Given the description of an element on the screen output the (x, y) to click on. 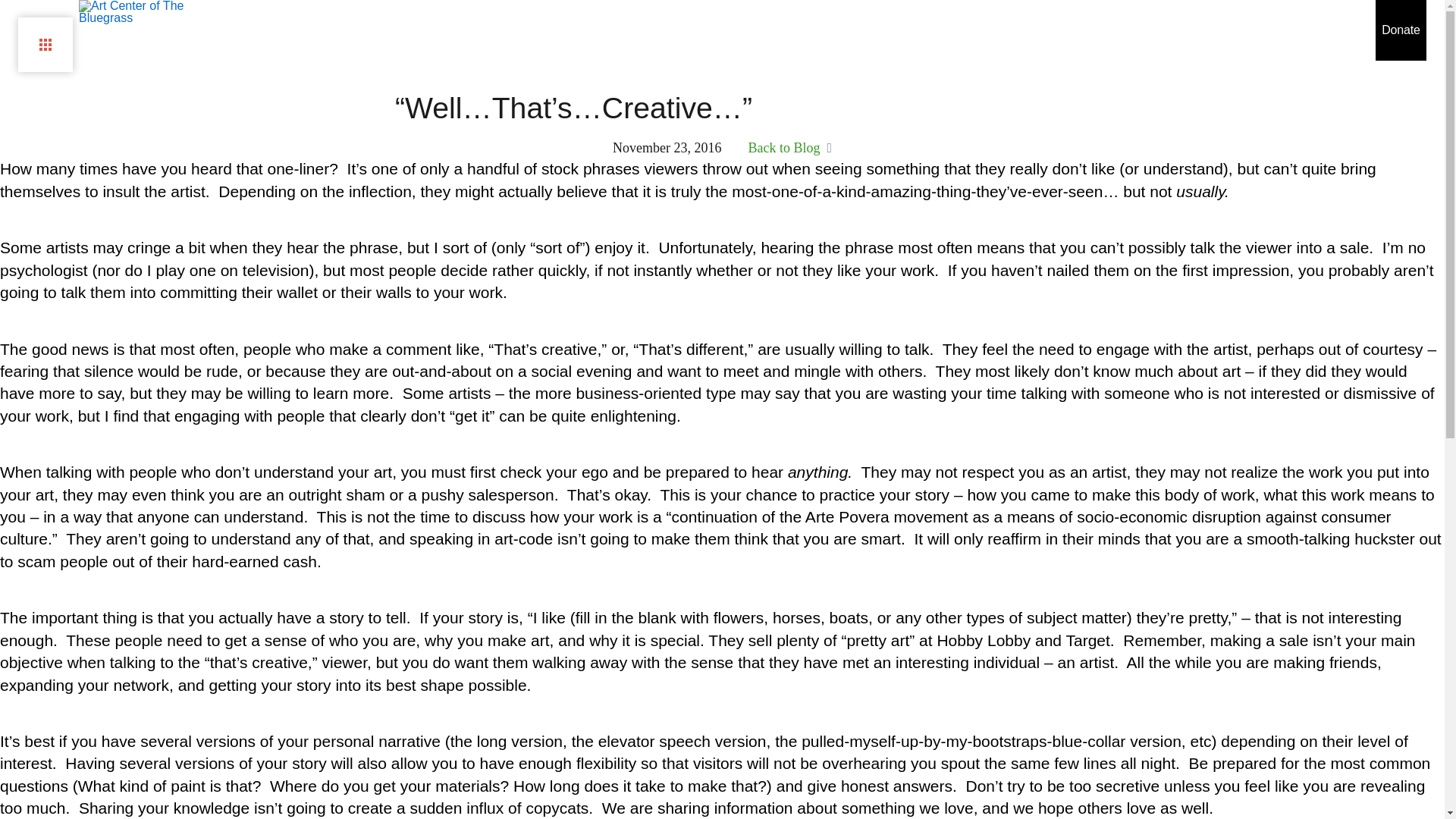
Back to Blog (789, 148)
